Given the description of an element on the screen output the (x, y) to click on. 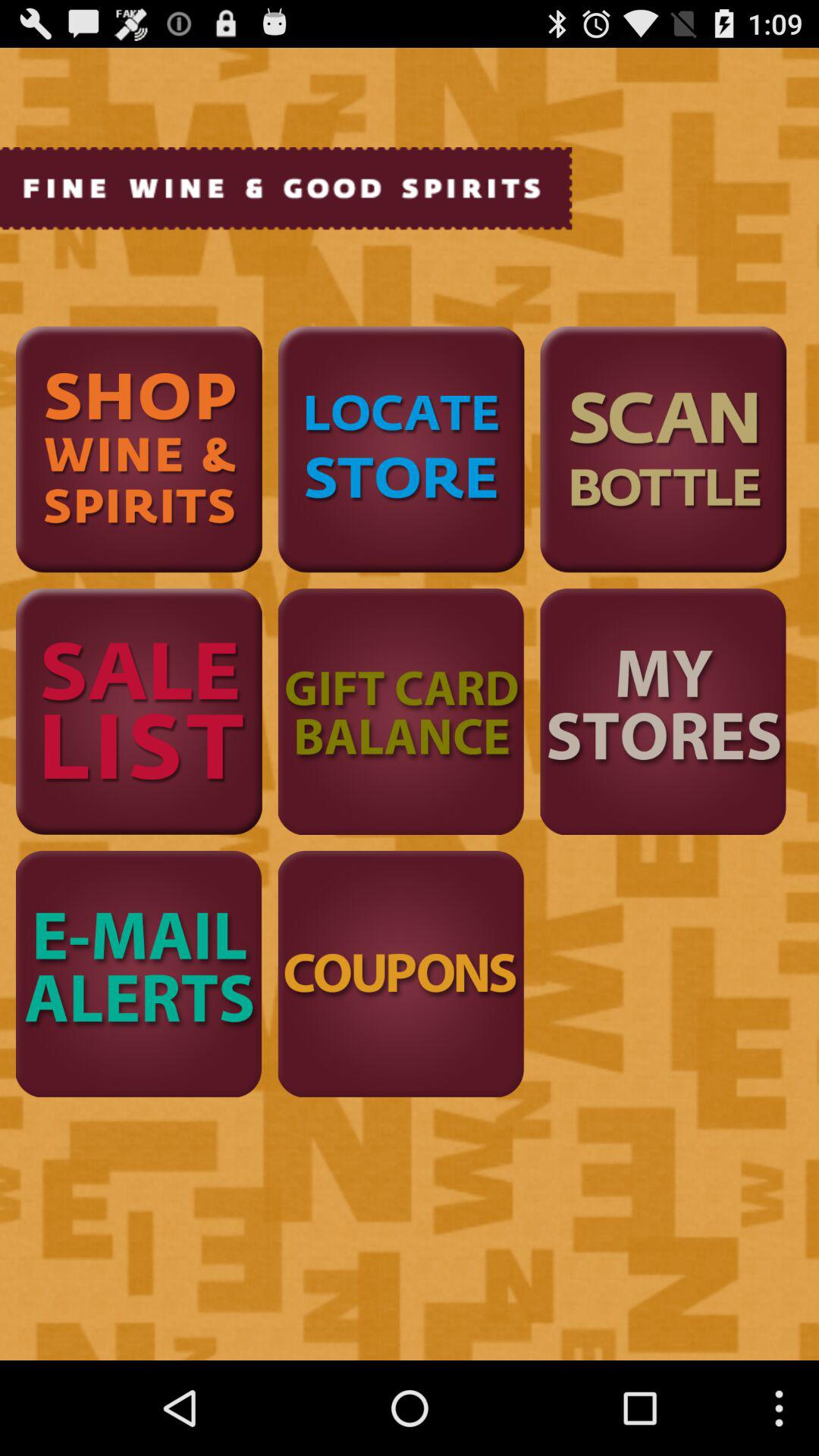
know balance (401, 711)
